Given the description of an element on the screen output the (x, y) to click on. 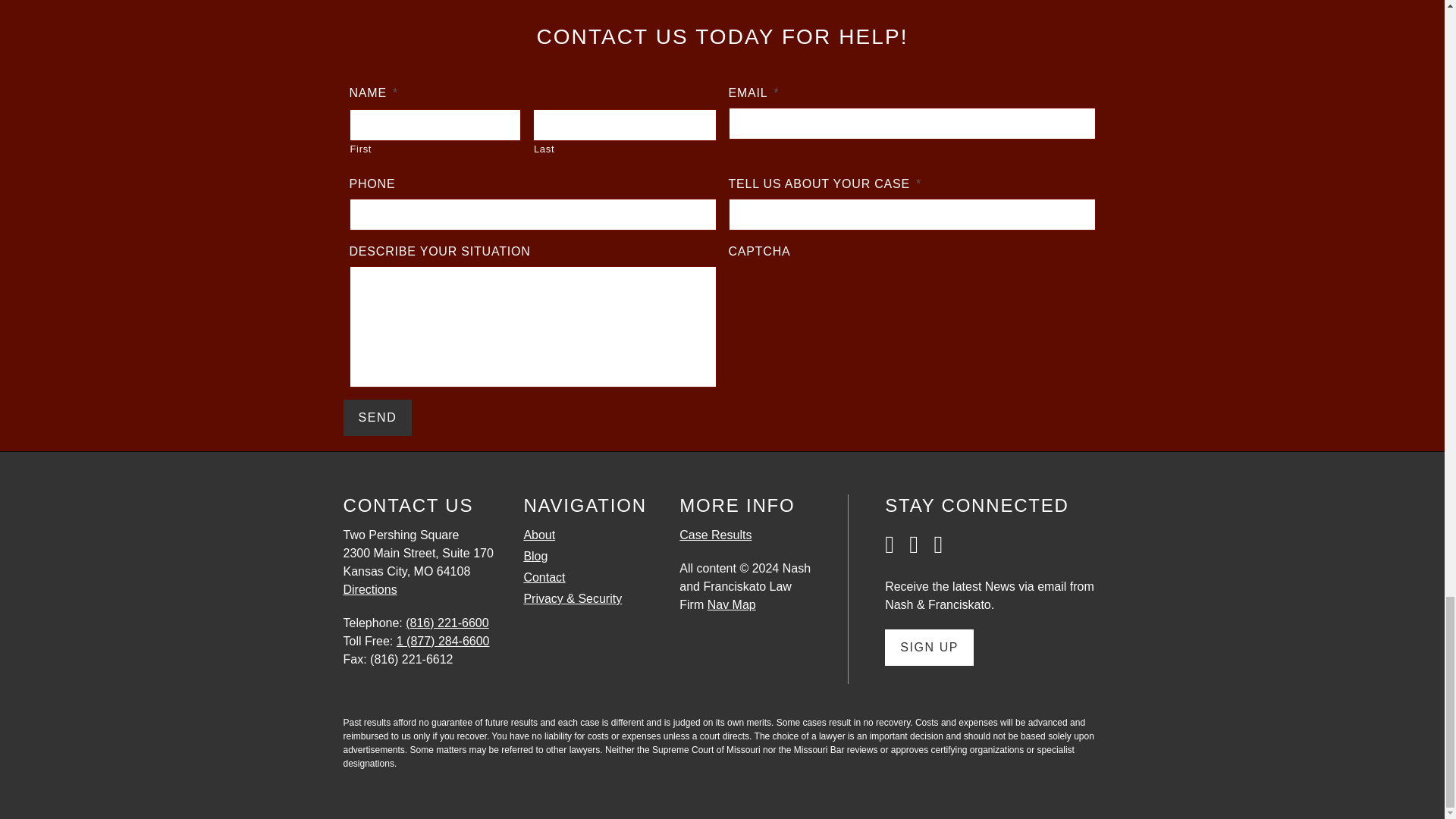
Send (377, 417)
